Given the description of an element on the screen output the (x, y) to click on. 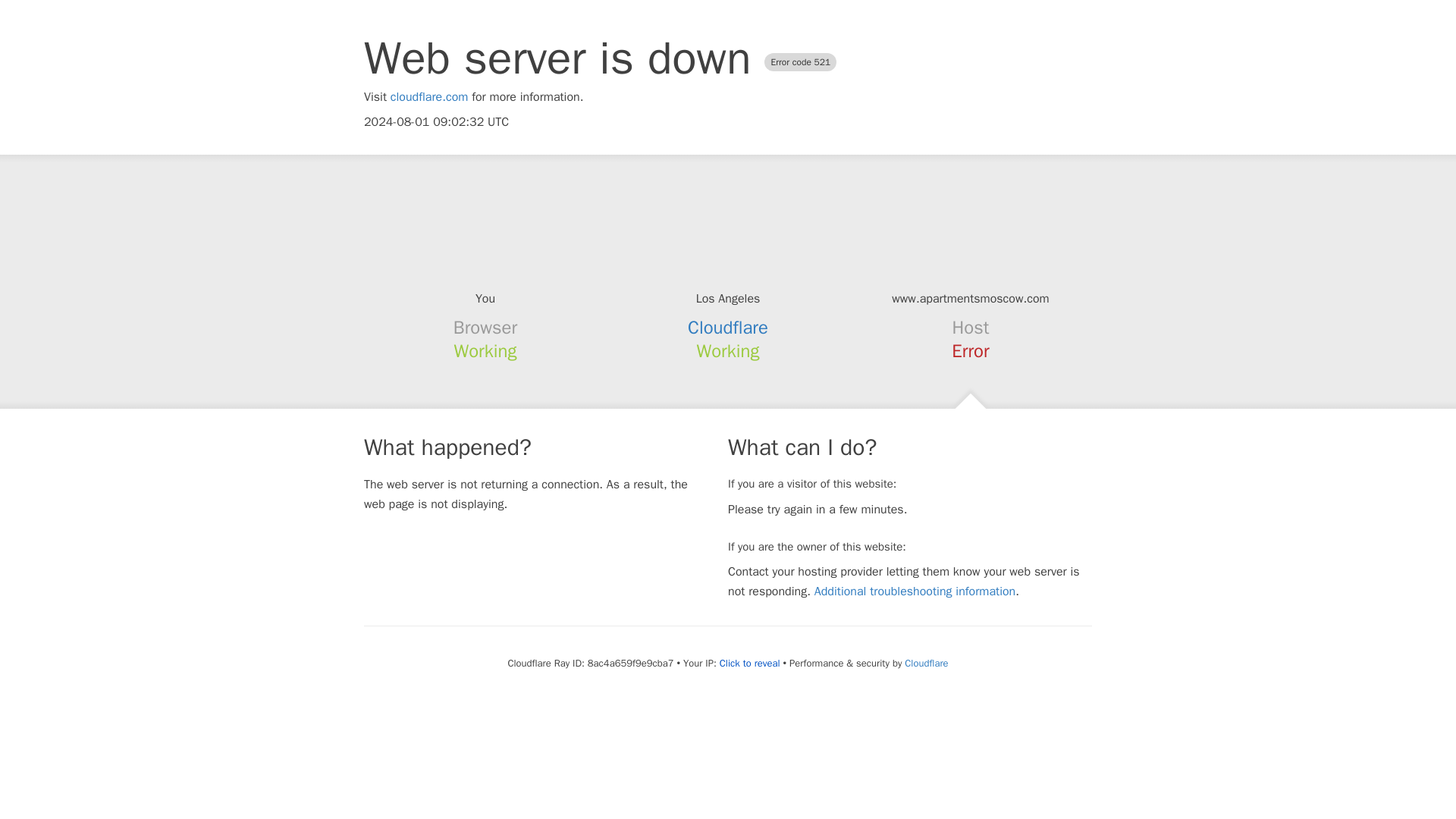
Additional troubleshooting information (913, 590)
Cloudflare (727, 327)
Click to reveal (749, 663)
Cloudflare (925, 662)
cloudflare.com (429, 96)
